Given the description of an element on the screen output the (x, y) to click on. 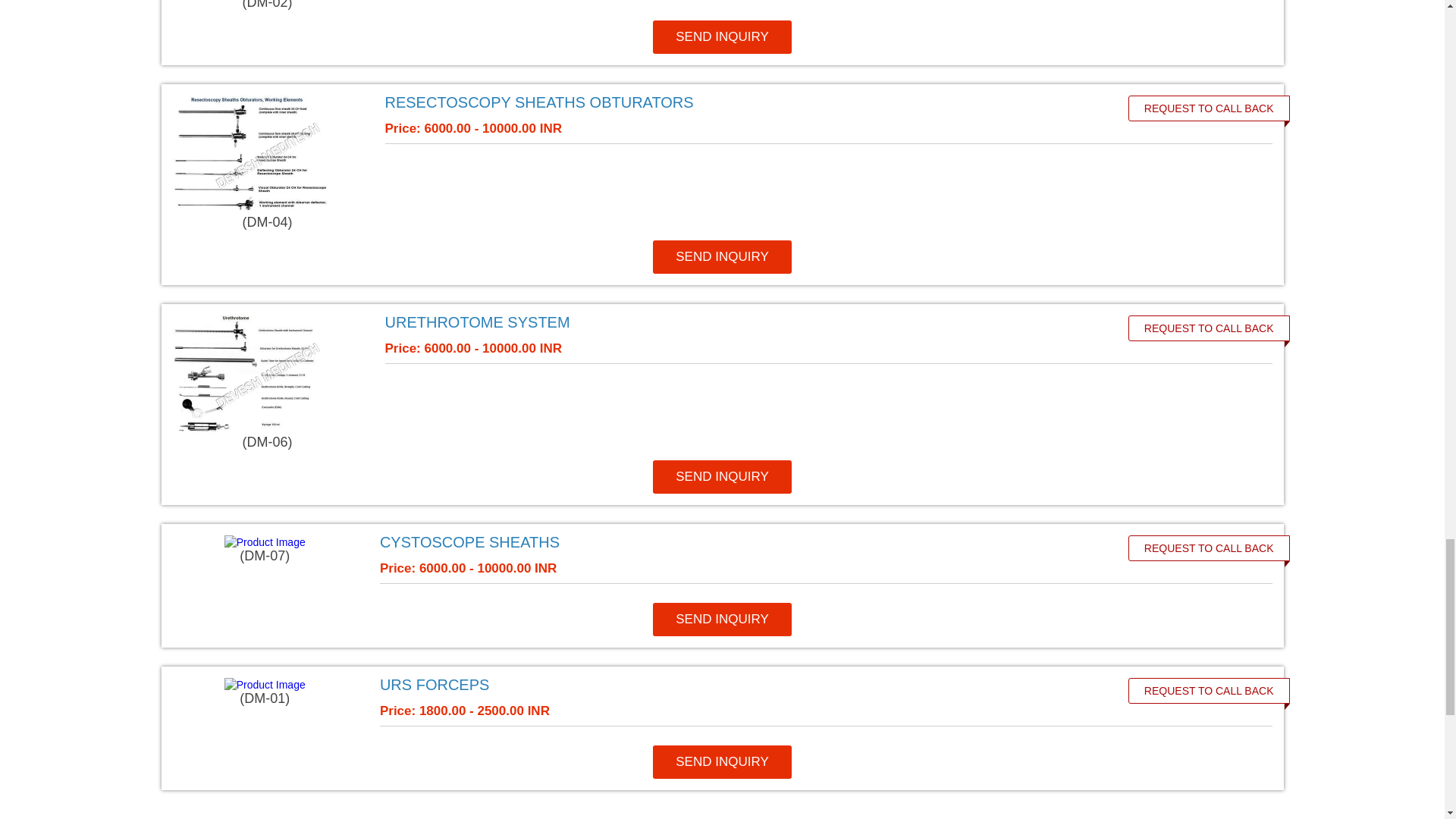
Urethrotome System (739, 322)
Cystoscope Sheaths (736, 541)
URS Forceps (736, 684)
Resectoscopy Sheaths Obturators (739, 101)
